Given the description of an element on the screen output the (x, y) to click on. 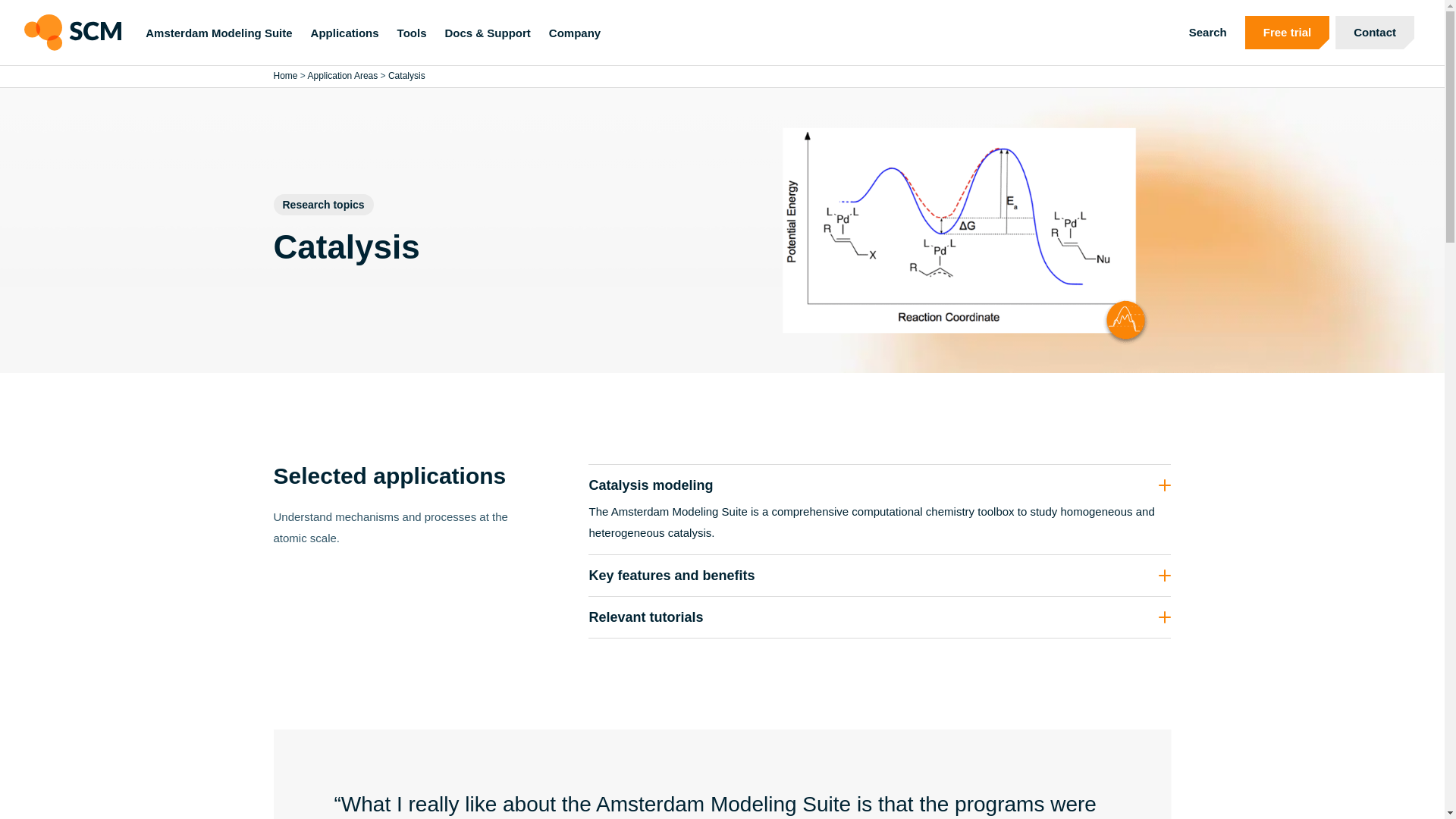
Applications (344, 31)
Tools (411, 31)
Amsterdam Modeling Suite (218, 31)
